Given the description of an element on the screen output the (x, y) to click on. 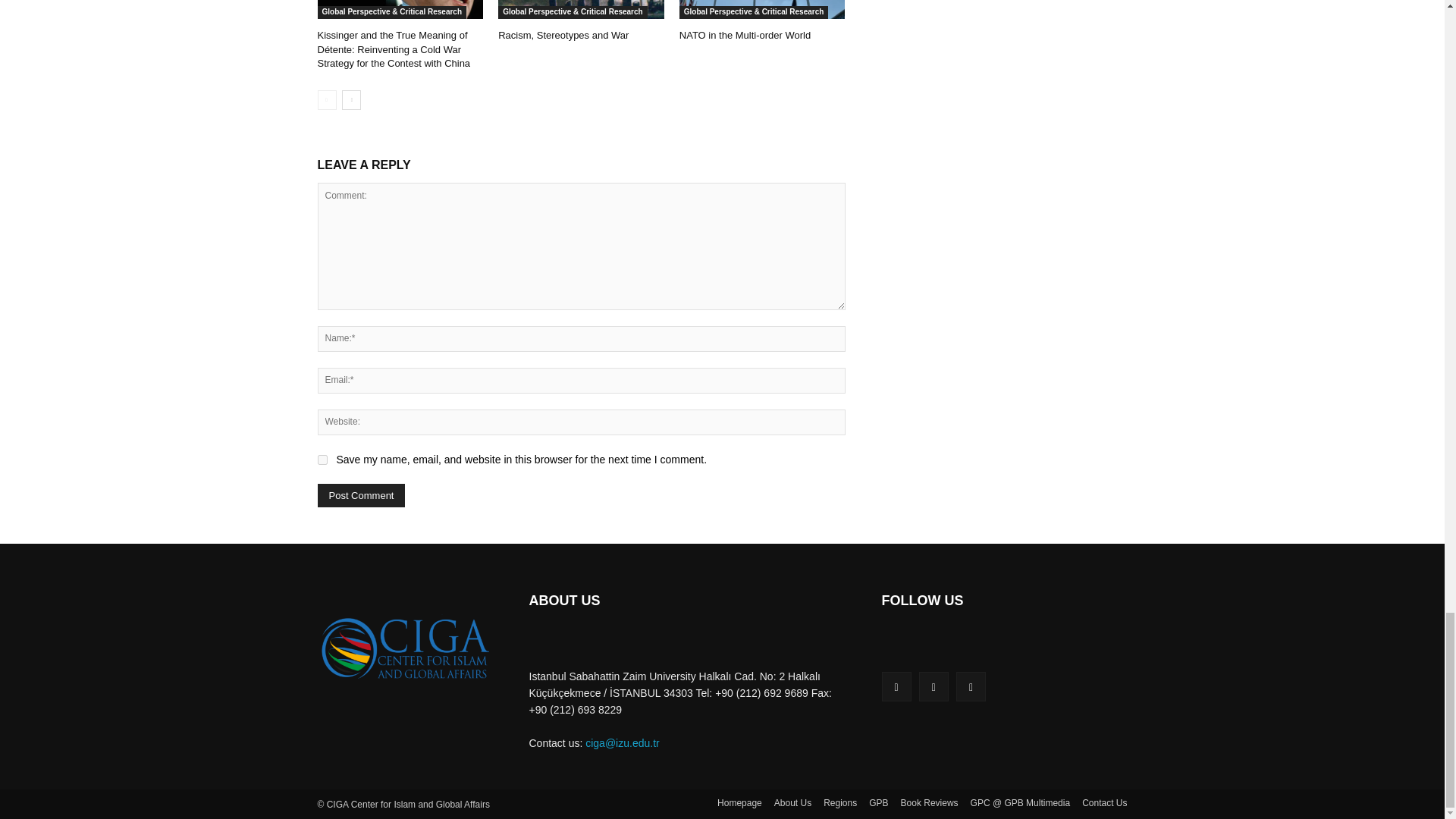
yes (321, 460)
Post Comment (360, 495)
